Given the description of an element on the screen output the (x, y) to click on. 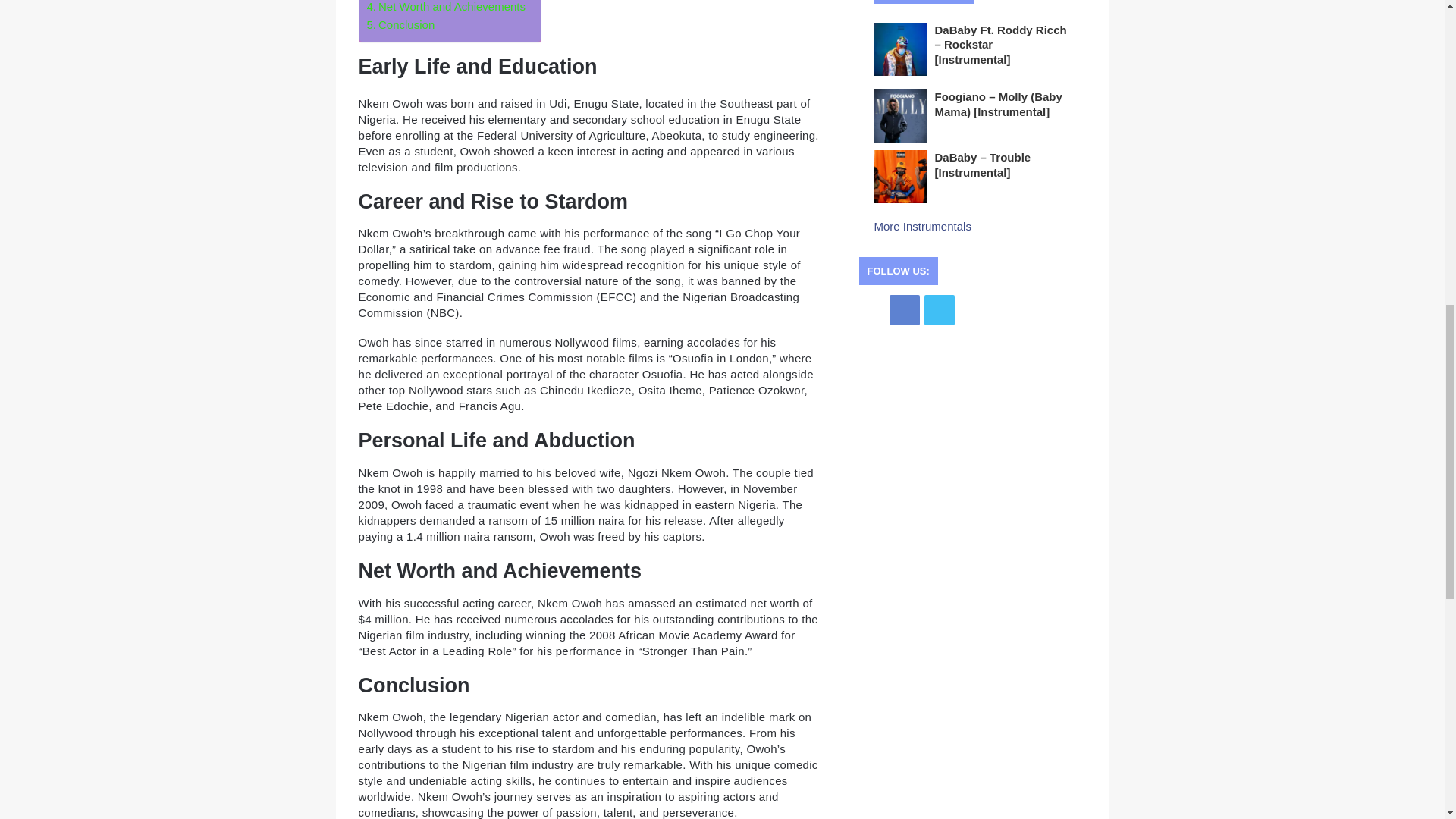
Net Worth and Achievements (445, 7)
Conclusion (400, 24)
Conclusion (400, 24)
Net Worth and Achievements (445, 7)
